Given the description of an element on the screen output the (x, y) to click on. 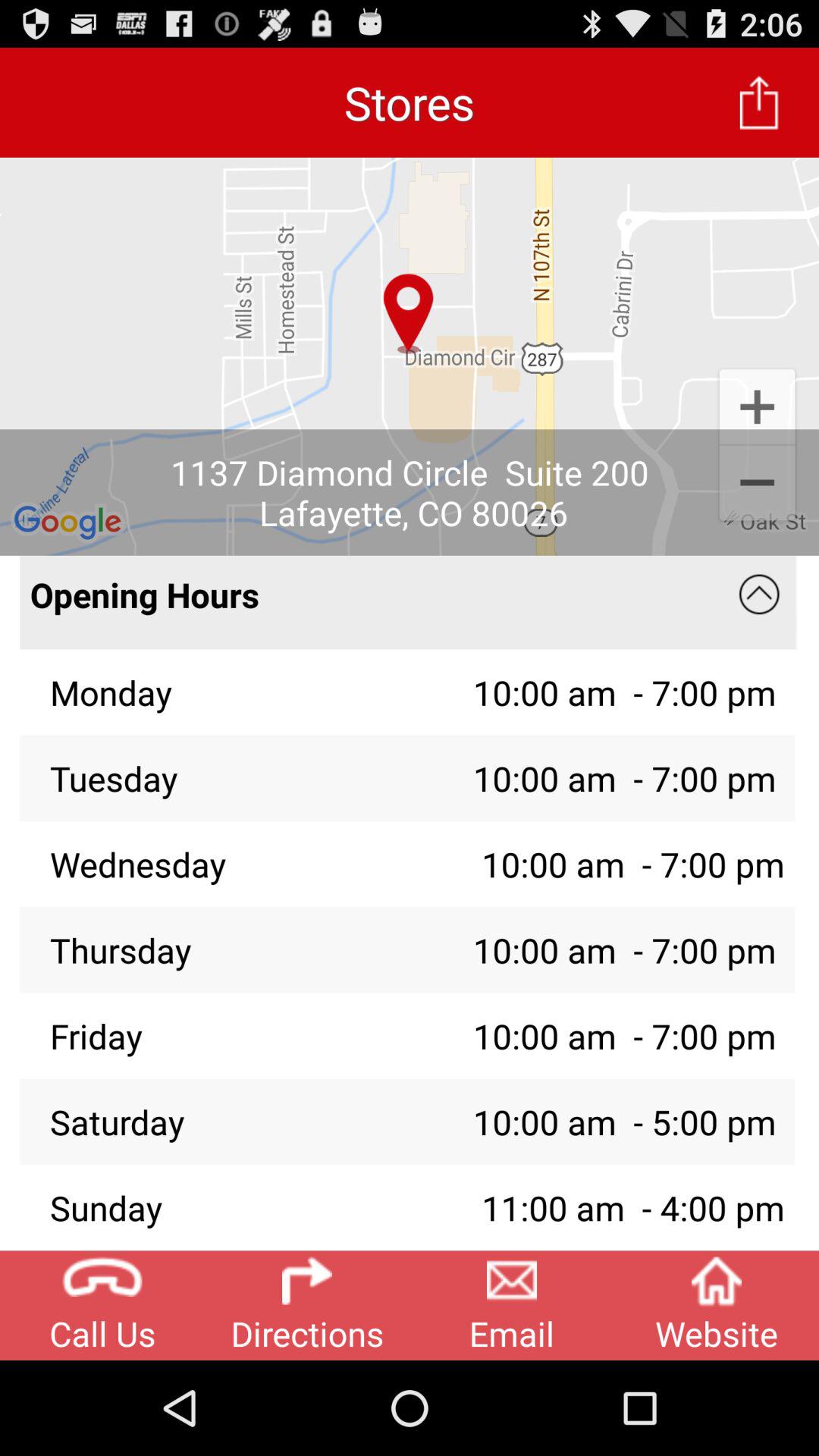
turn on app below stores (409, 356)
